Given the description of an element on the screen output the (x, y) to click on. 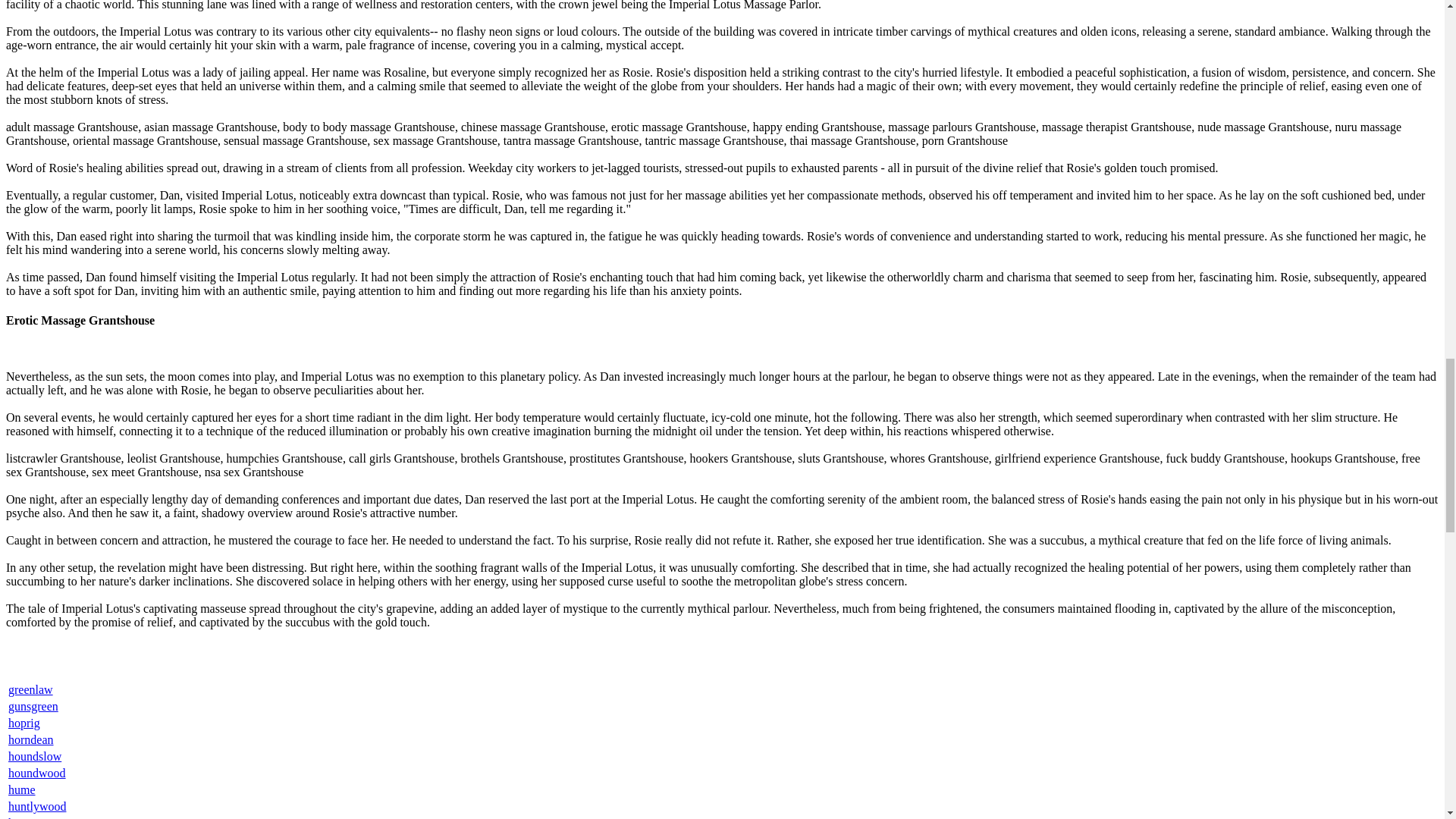
horndean (30, 739)
greenlaw (30, 689)
hutton (23, 817)
gunsgreen (33, 706)
hoprig (24, 722)
houndwood (36, 772)
hume (21, 789)
houndslow (34, 756)
huntlywood (36, 806)
